Given the description of an element on the screen output the (x, y) to click on. 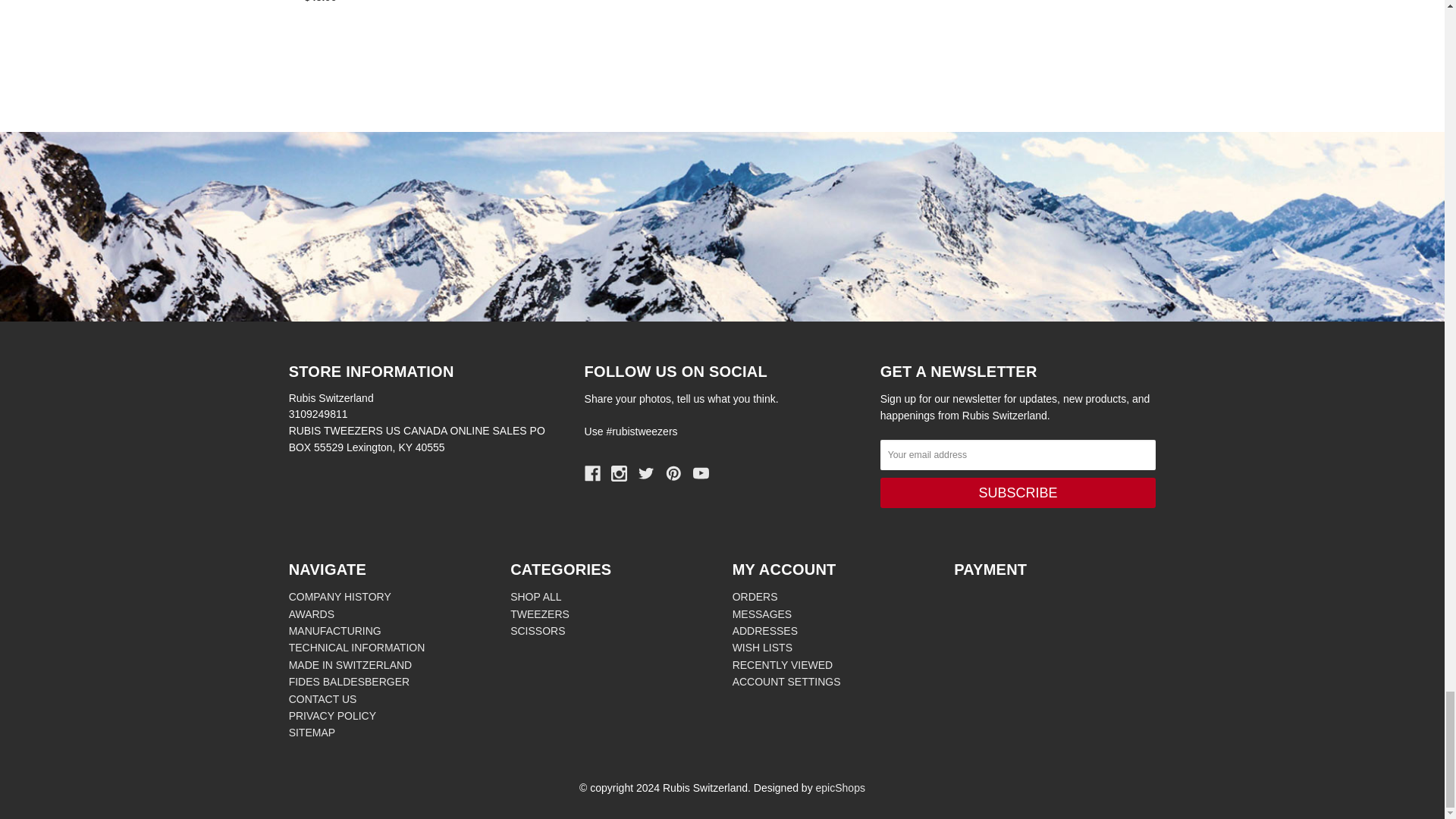
Subscribe (1018, 492)
